Given the description of an element on the screen output the (x, y) to click on. 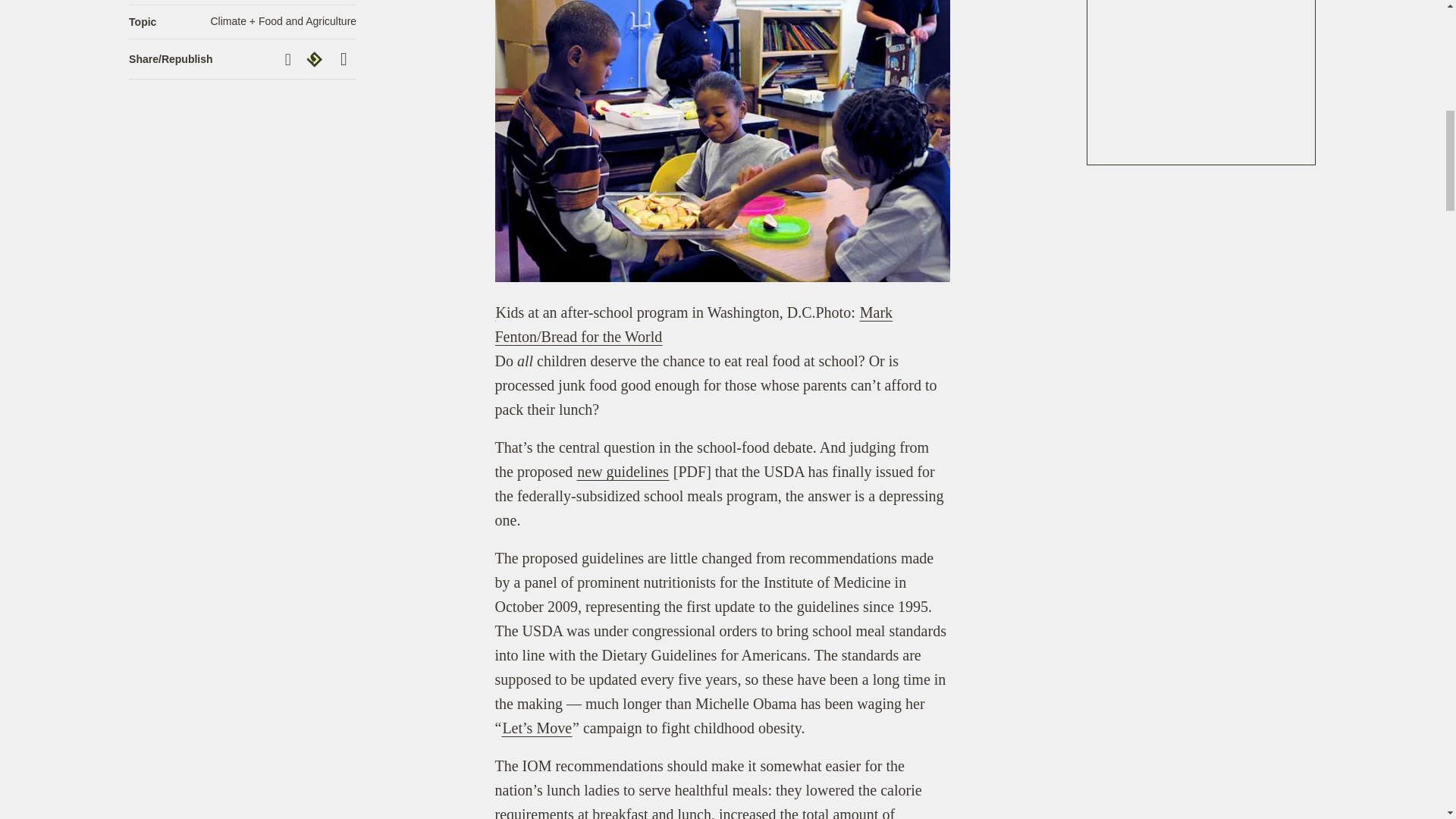
Copy article link (289, 59)
Republish the article (316, 58)
3rd party ad content (1200, 82)
